Given the description of an element on the screen output the (x, y) to click on. 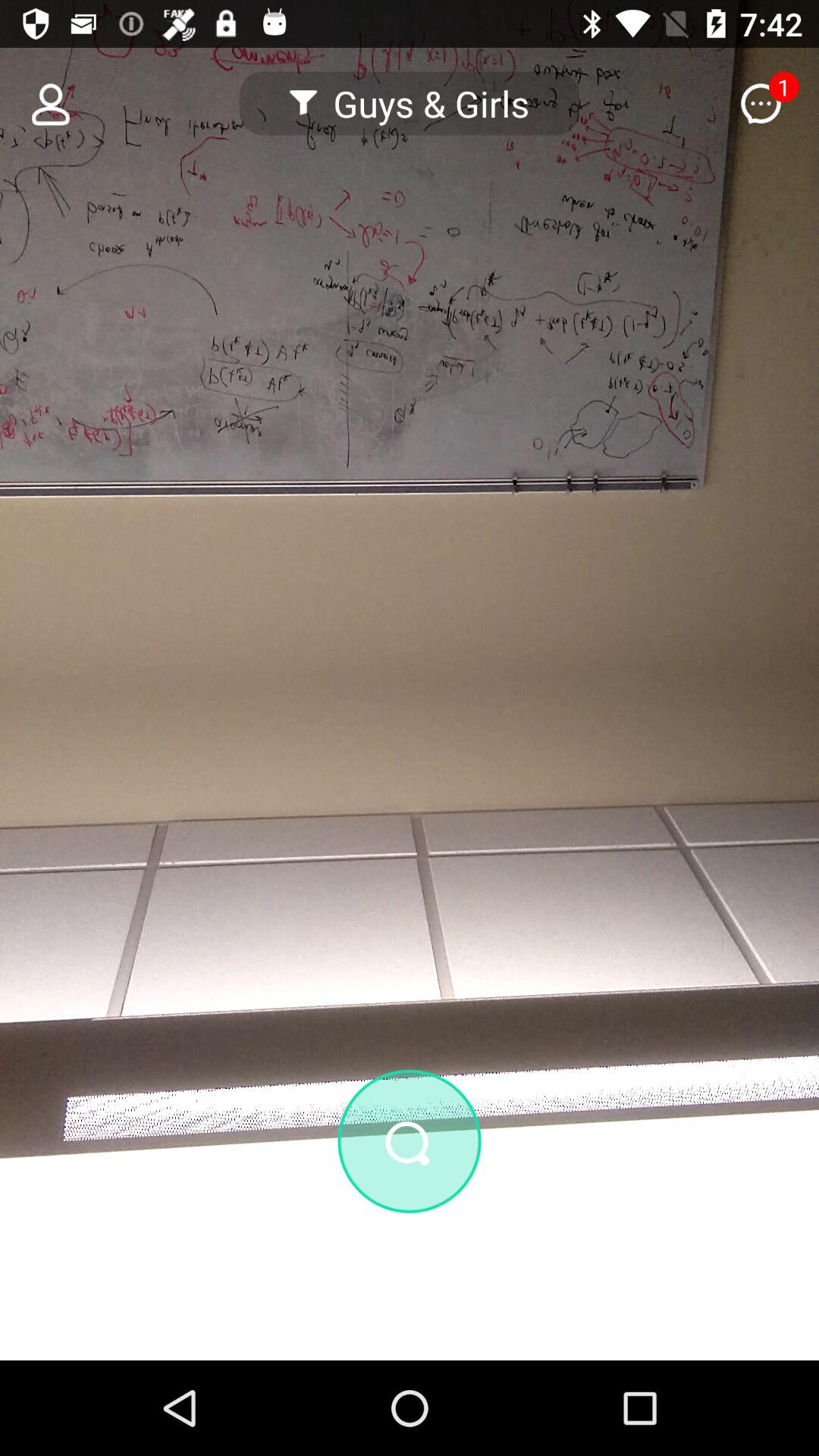
zoom (409, 1141)
